Given the description of an element on the screen output the (x, y) to click on. 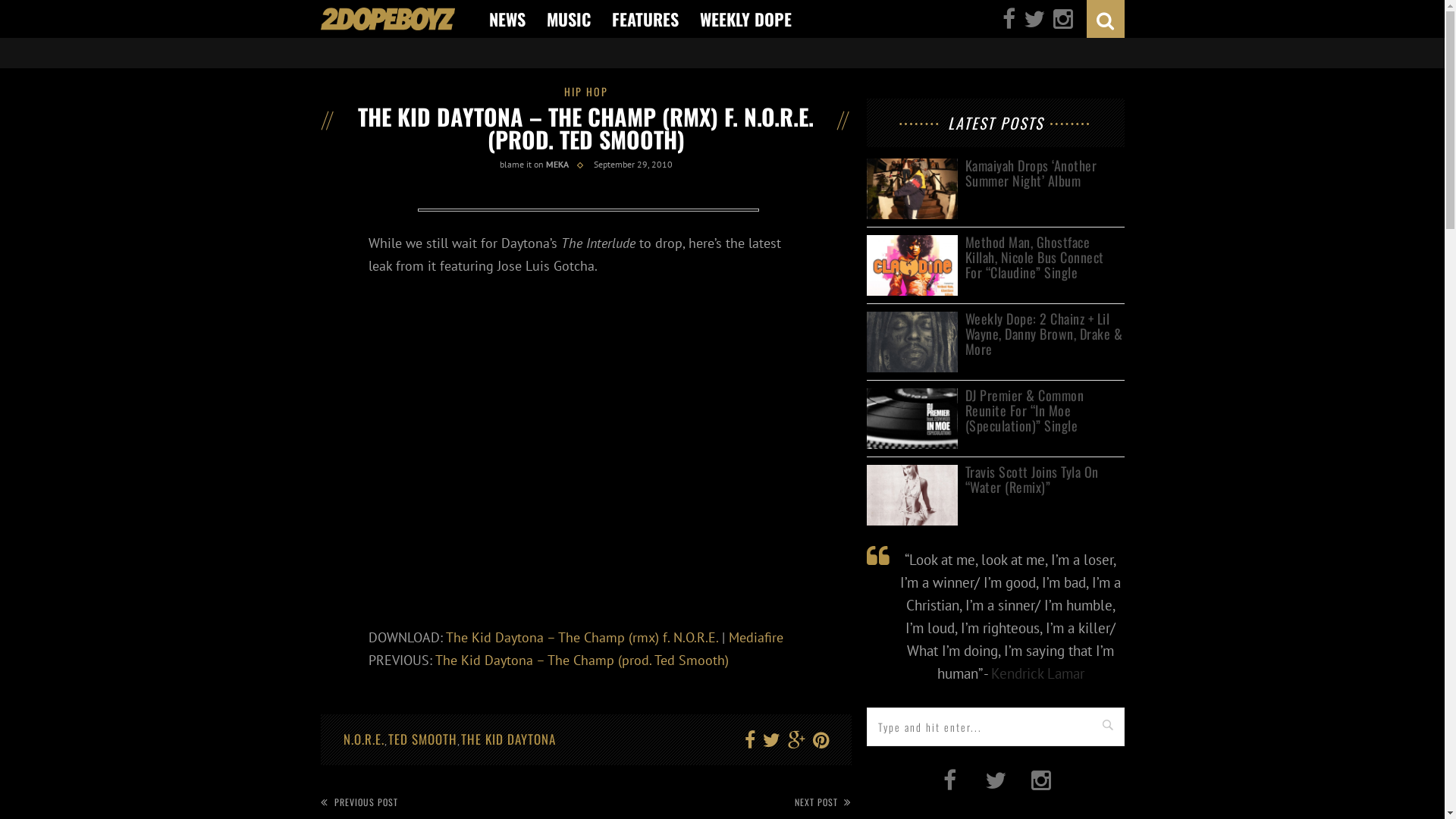
Weekly Dope: 2 Chainz + Lil Wayne, Danny Brown, Drake & More Element type: text (1043, 334)
TED SMOOTH Element type: text (422, 738)
THE KID DAYTONA Element type: text (508, 738)
Mediafire Element type: text (755, 637)
N.O.R.E. Element type: text (362, 738)
HIP HOP Element type: text (586, 91)
Kendrick Lamar Element type: text (1036, 673)
daytonachamp Element type: hover (587, 212)
Weekly Dope: 2 Chainz + Lil Wayne, Danny Brown, Drake & More Element type: hover (911, 319)
